Given the description of an element on the screen output the (x, y) to click on. 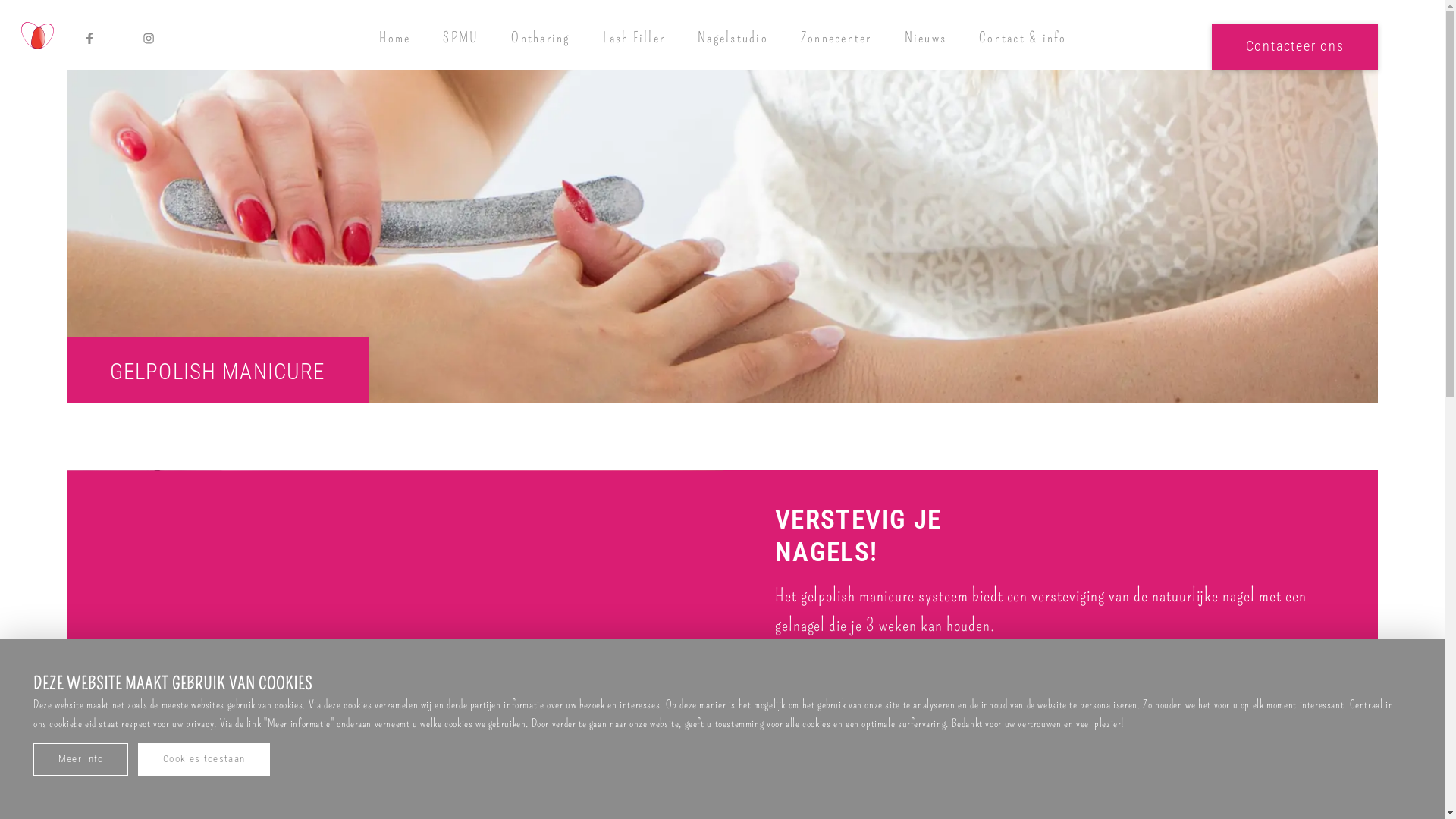
Contact & info Element type: text (1022, 38)
Meer info Element type: text (80, 759)
Nieuws Element type: text (925, 38)
Lash Filler Element type: text (633, 38)
SPMU Element type: text (460, 38)
Nagelstudio Element type: text (732, 38)
Zonnecenter Element type: text (836, 38)
Home Element type: text (394, 38)
Ontharing Element type: text (540, 38)
